Given the description of an element on the screen output the (x, y) to click on. 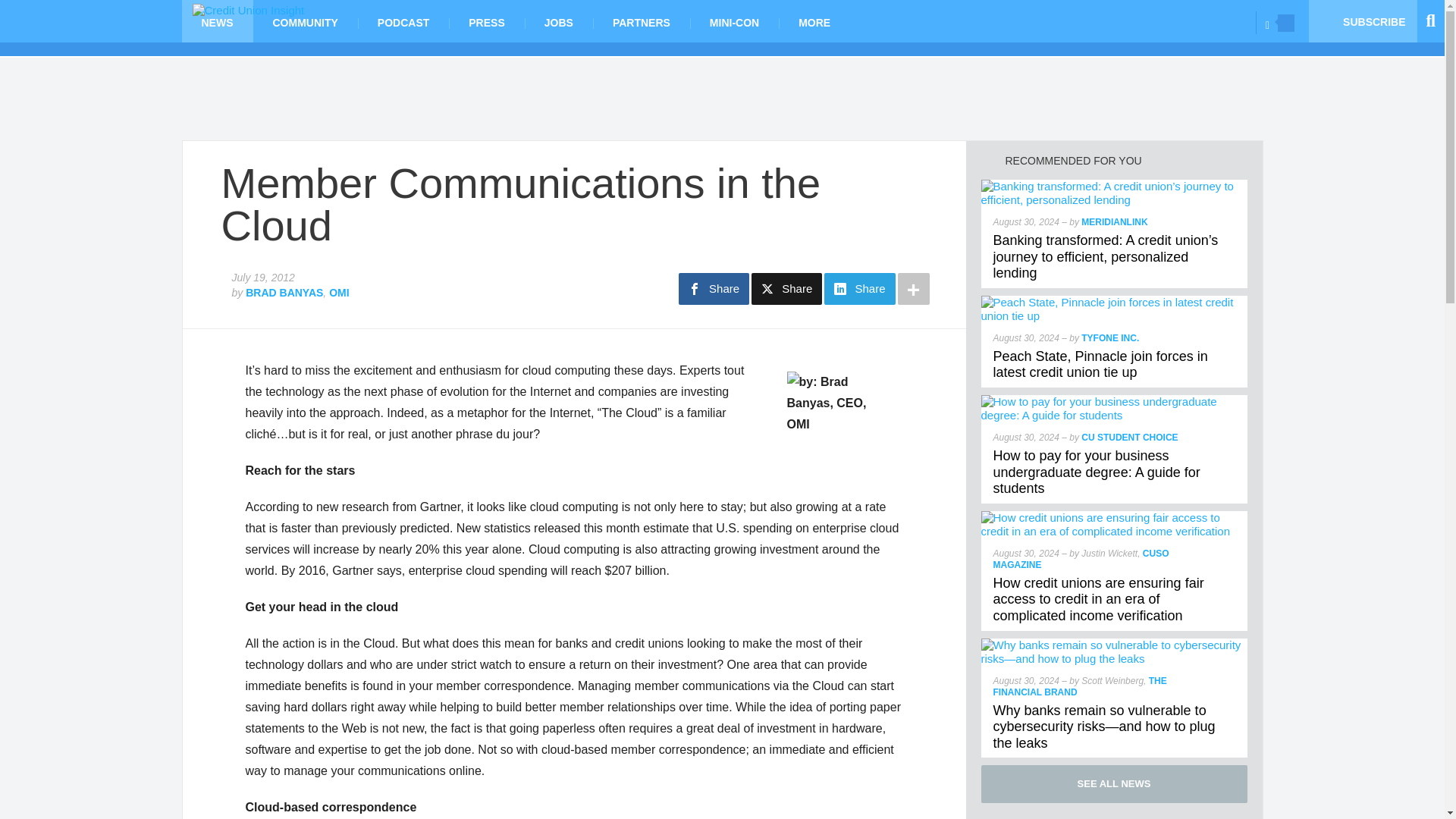
COMMUNITY (305, 21)
PODCAST (403, 21)
PARTNERS (641, 21)
MORE (814, 21)
MINI-CON (734, 21)
OMI (339, 292)
Share (786, 288)
